Given the description of an element on the screen output the (x, y) to click on. 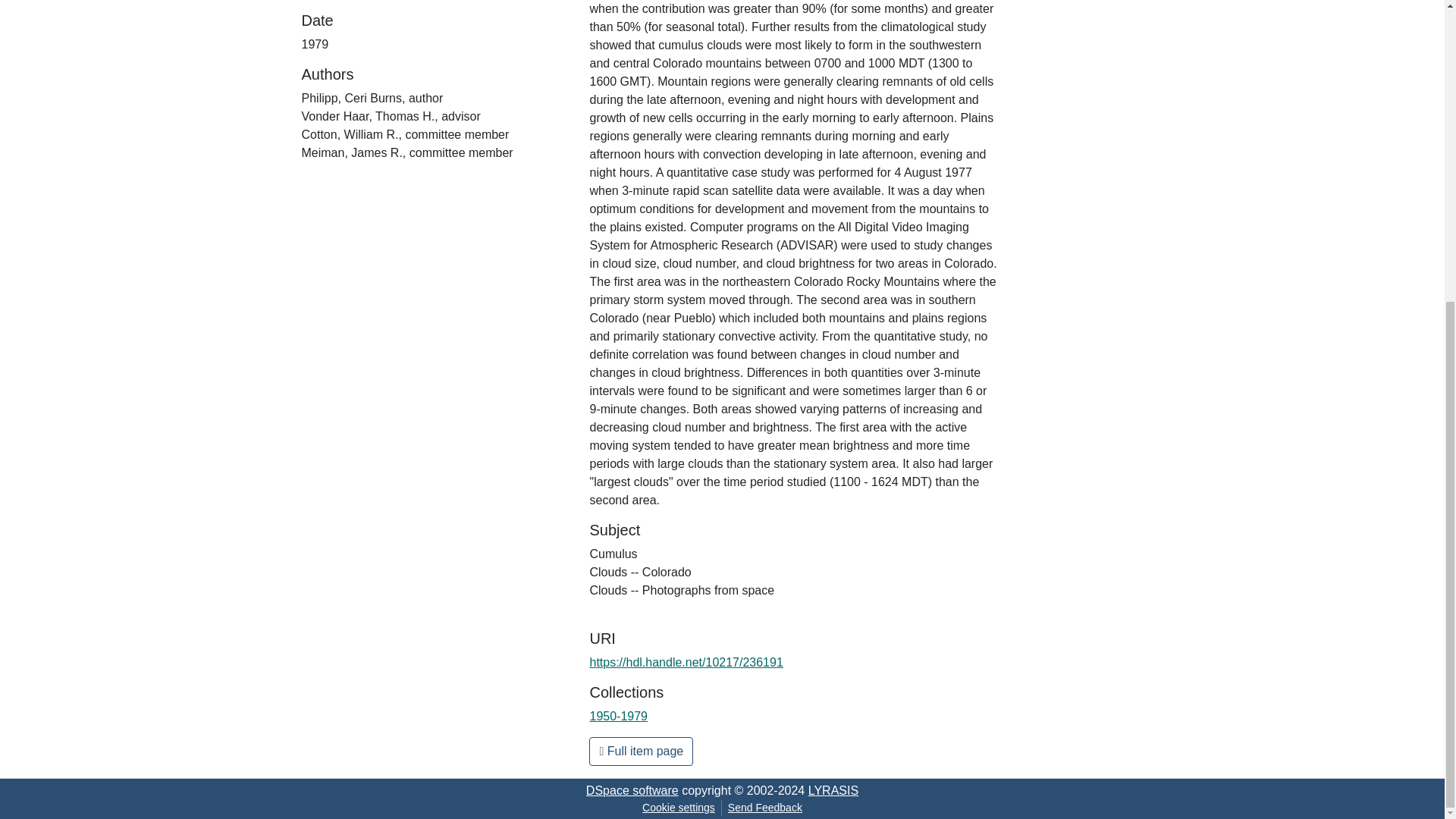
Send Feedback (765, 807)
LYRASIS (833, 789)
Cookie settings (678, 807)
Full item page (641, 751)
1950-1979 (618, 716)
DSpace software (632, 789)
